Given the description of an element on the screen output the (x, y) to click on. 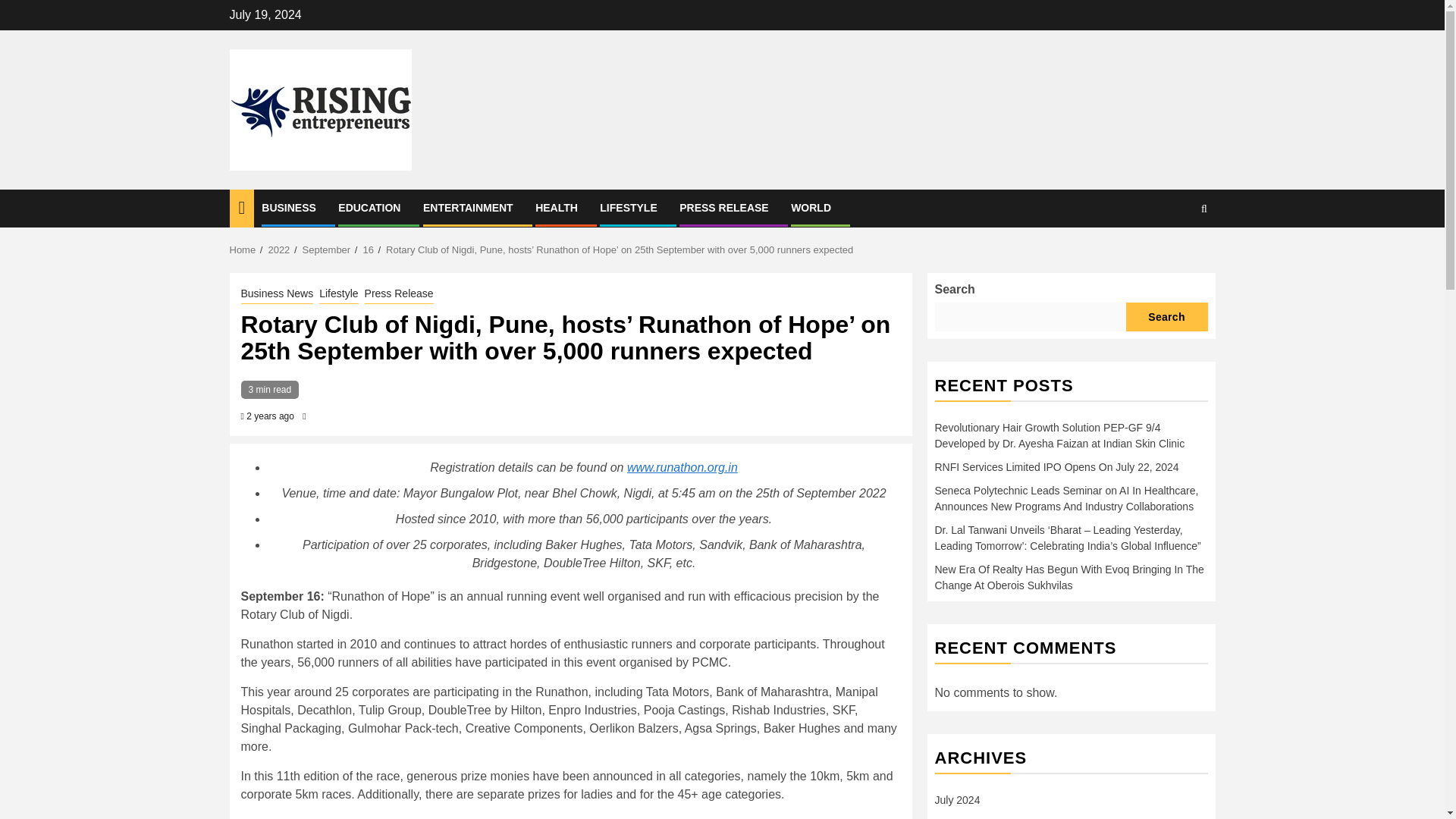
PRESS RELEASE (723, 207)
BUSINESS (288, 207)
ENTERTAINMENT (468, 207)
16 (367, 249)
2022 (278, 249)
September (326, 249)
WORLD (810, 207)
EDUCATION (368, 207)
HEALTH (556, 207)
Search (1174, 254)
Business News (277, 294)
www.runathon.org.in (682, 467)
Lifestyle (338, 294)
LIFESTYLE (627, 207)
Home (242, 249)
